Given the description of an element on the screen output the (x, y) to click on. 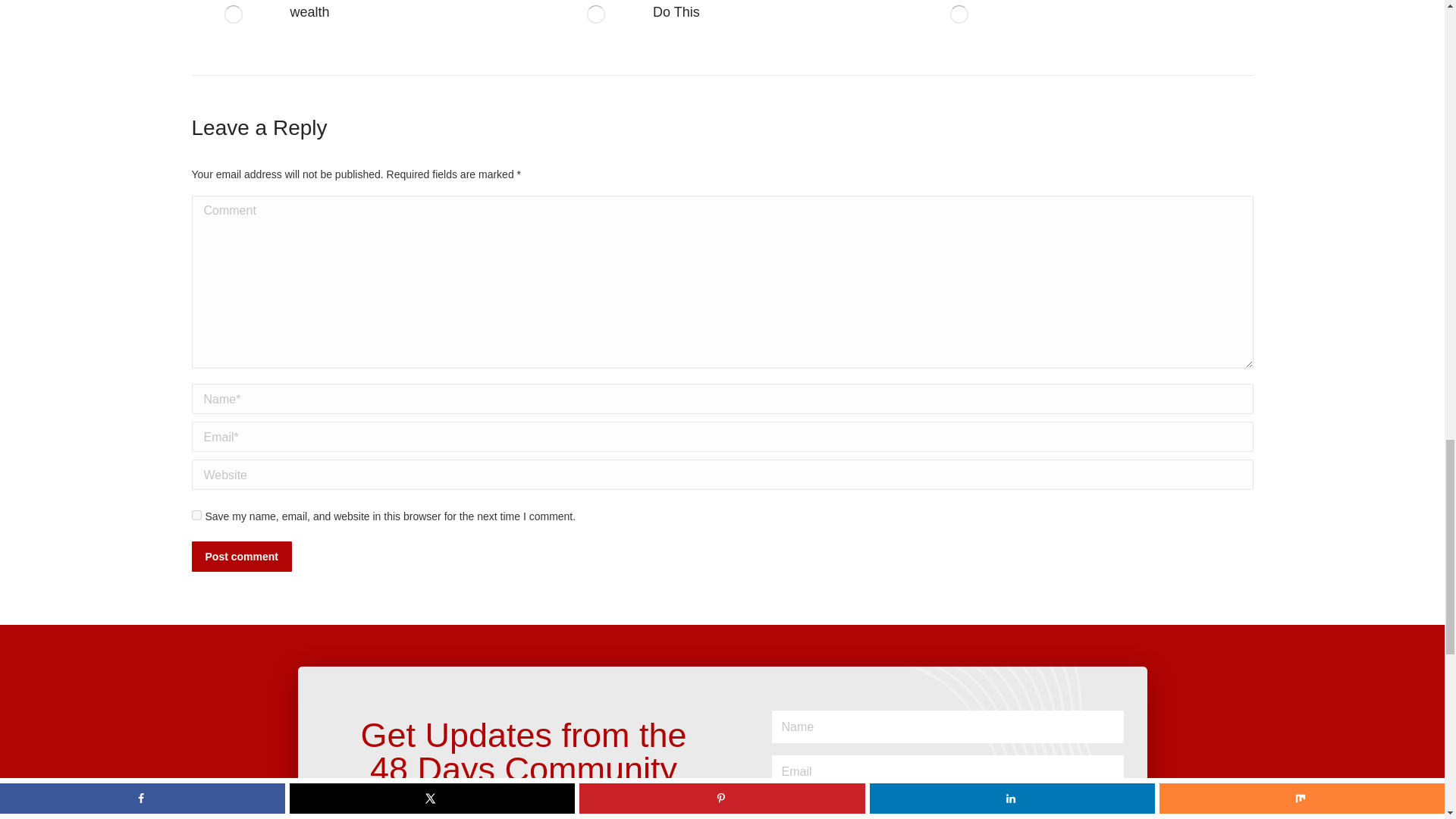
yes (195, 515)
